Given the description of an element on the screen output the (x, y) to click on. 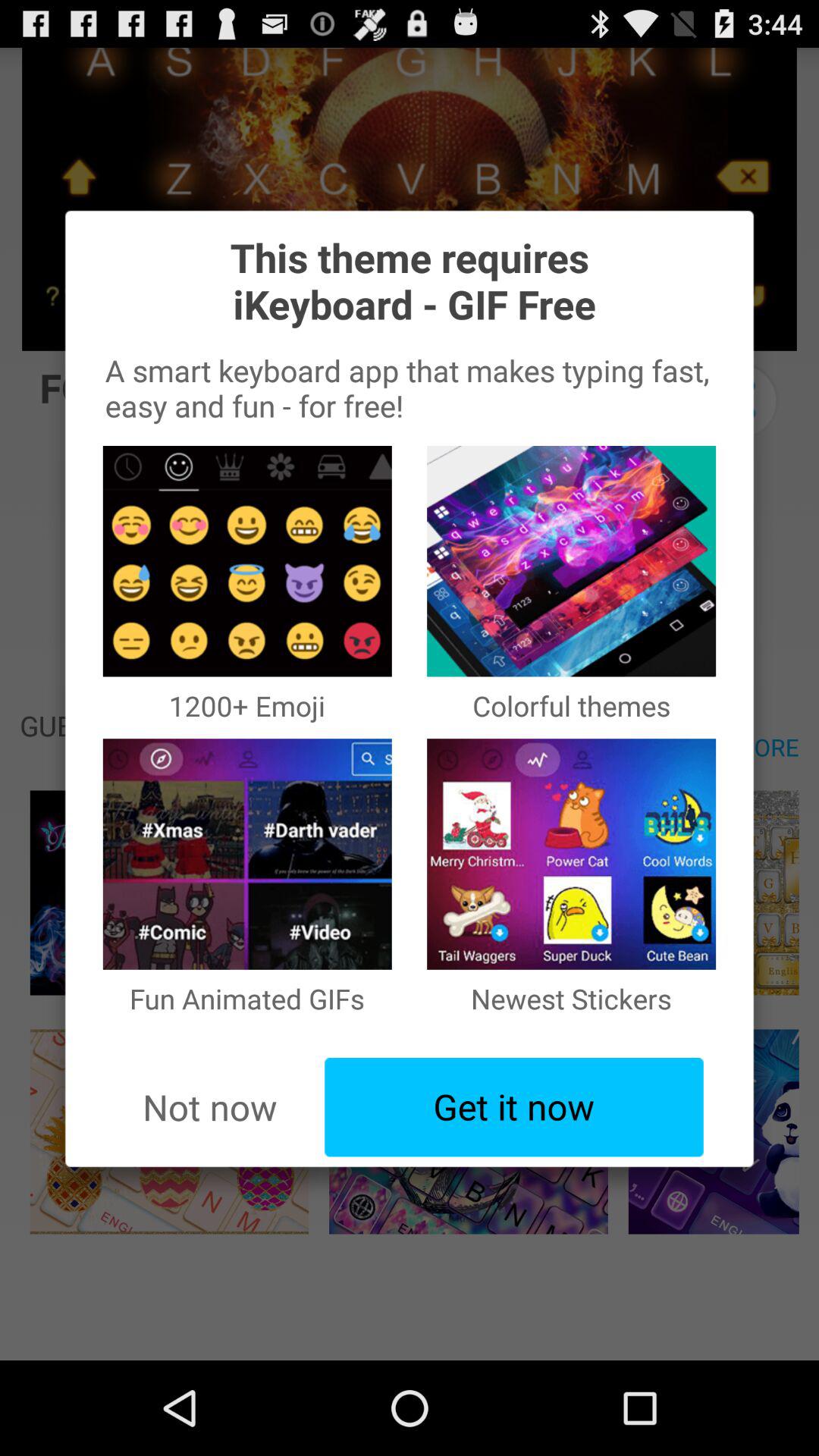
open icon to the left of the get it now button (209, 1106)
